Given the description of an element on the screen output the (x, y) to click on. 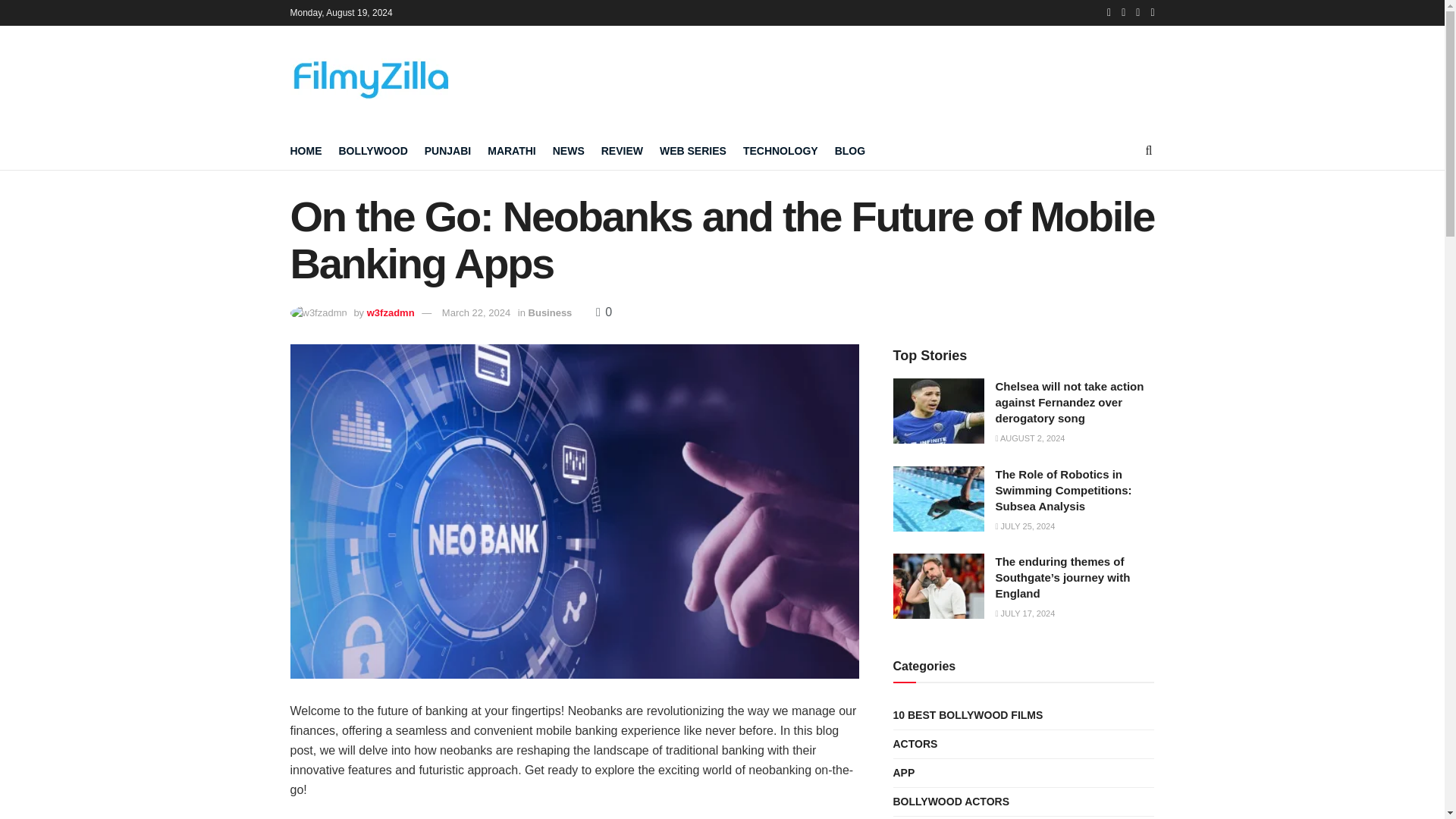
REVIEW (622, 150)
WEB SERIES (692, 150)
MARATHI (511, 150)
March 22, 2024 (476, 312)
Business (550, 312)
w3fzadmn (390, 312)
BOLLYWOOD (372, 150)
PUNJABI (447, 150)
TECHNOLOGY (780, 150)
0 (603, 311)
